Given the description of an element on the screen output the (x, y) to click on. 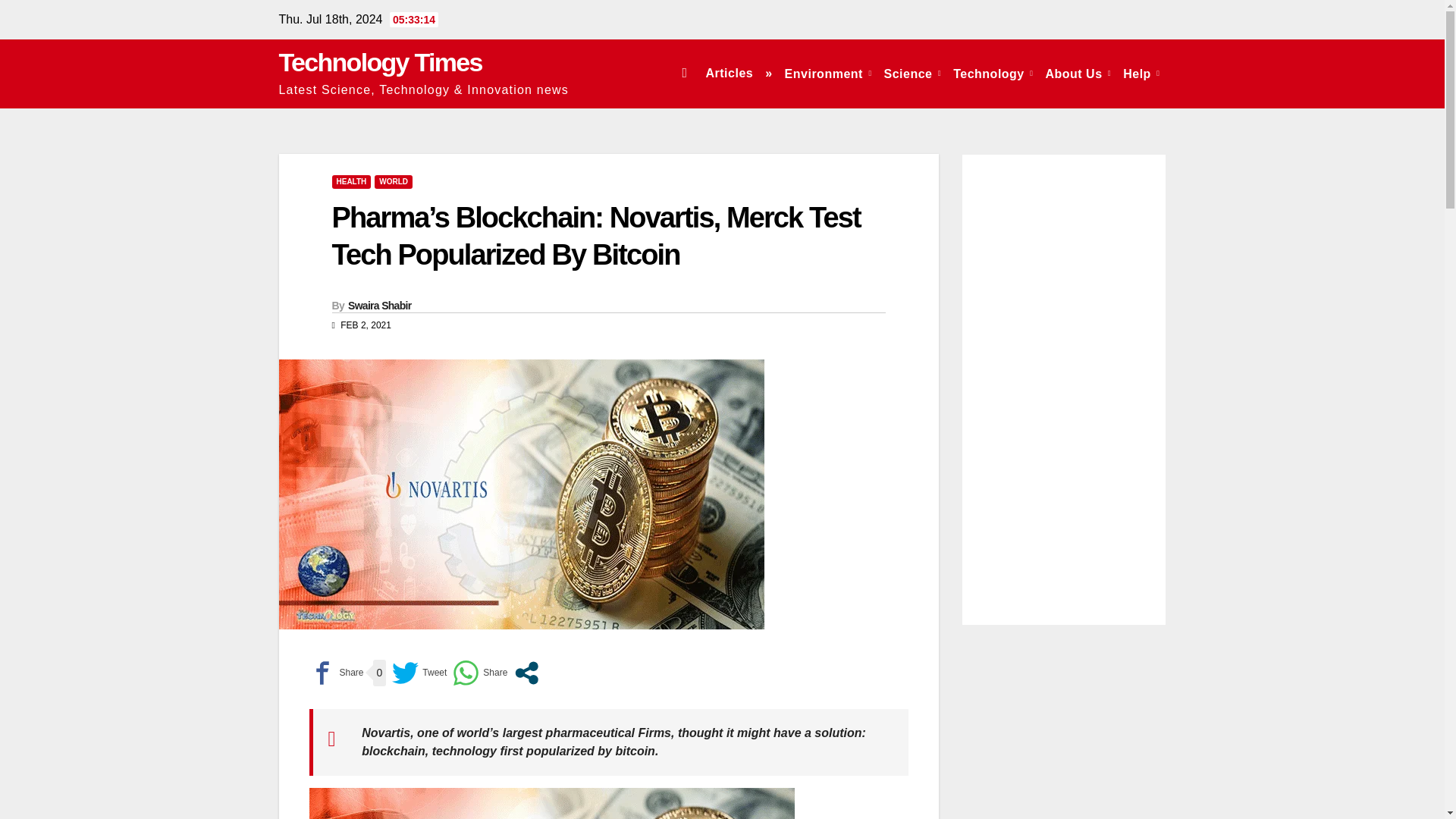
Technology Times (380, 61)
Environment (827, 73)
About Us (1077, 73)
Science (912, 73)
Technology (993, 73)
Technology (993, 73)
Environment (827, 73)
Science (912, 73)
